Given the description of an element on the screen output the (x, y) to click on. 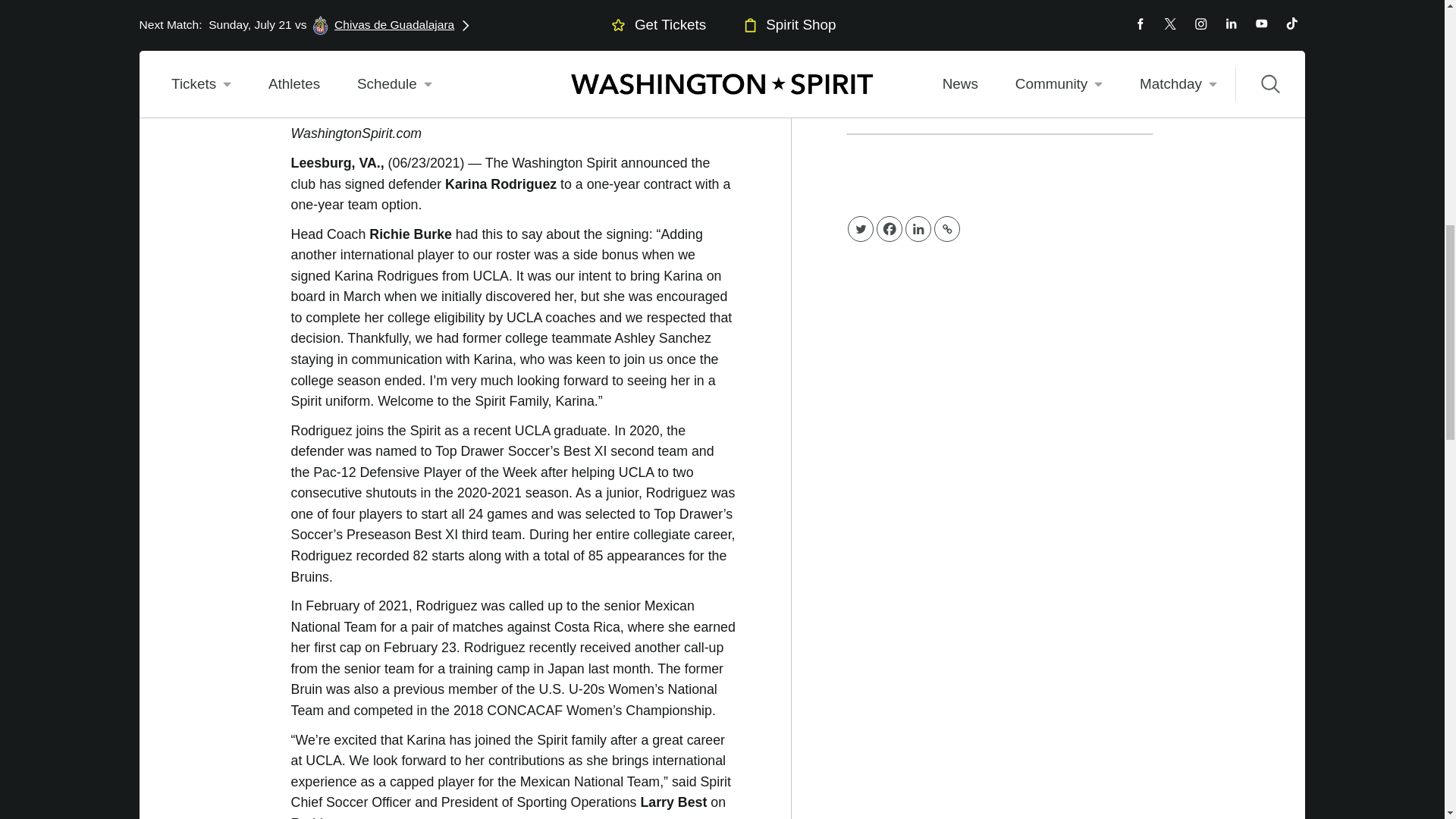
Linkedin (918, 228)
Twitter (860, 228)
Copy Link (946, 228)
Facebook (889, 228)
